Given the description of an element on the screen output the (x, y) to click on. 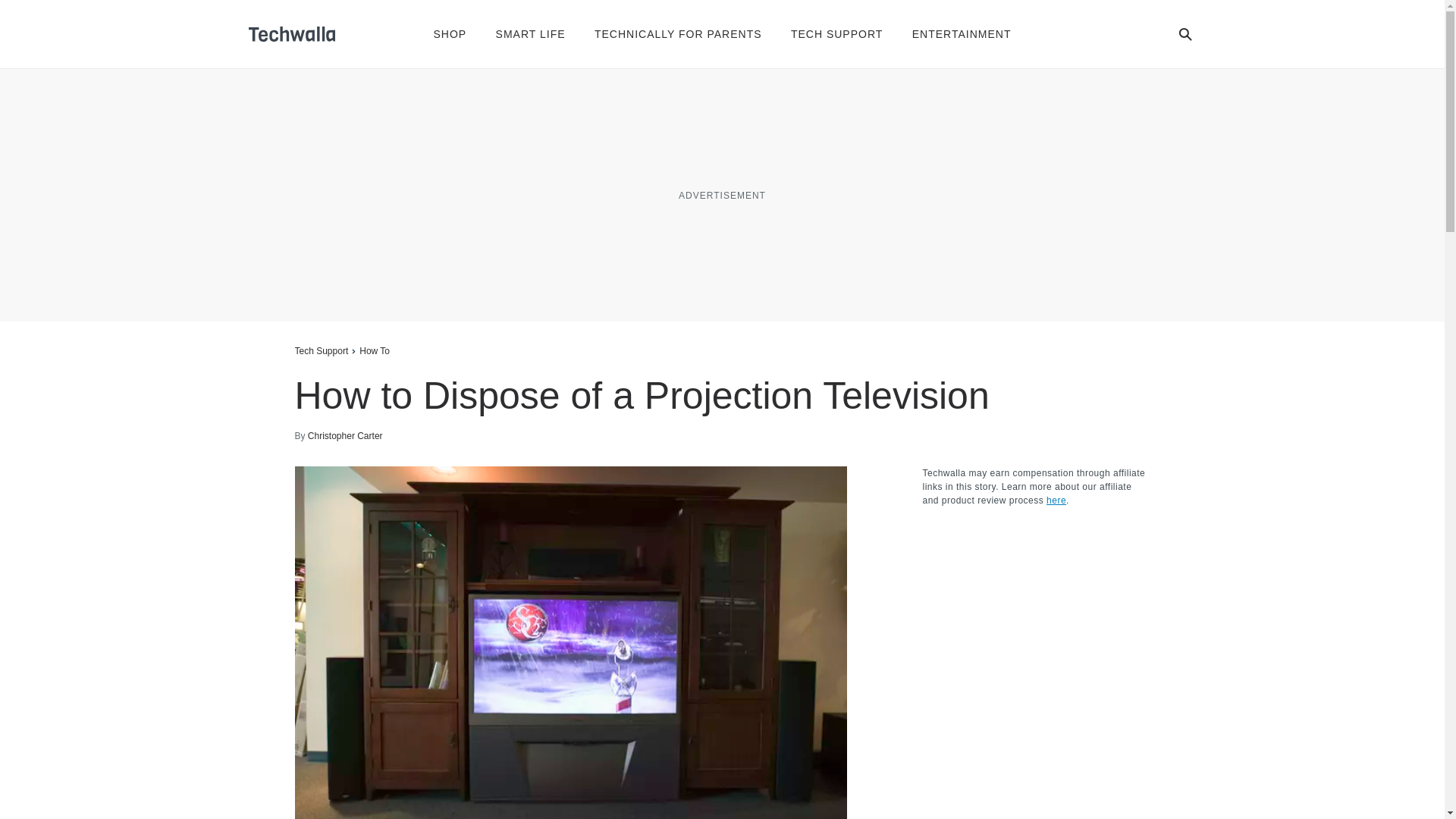
How To (374, 350)
Tech Support (320, 350)
Learn more about our affiliate and product review process (1055, 500)
